Given the description of an element on the screen output the (x, y) to click on. 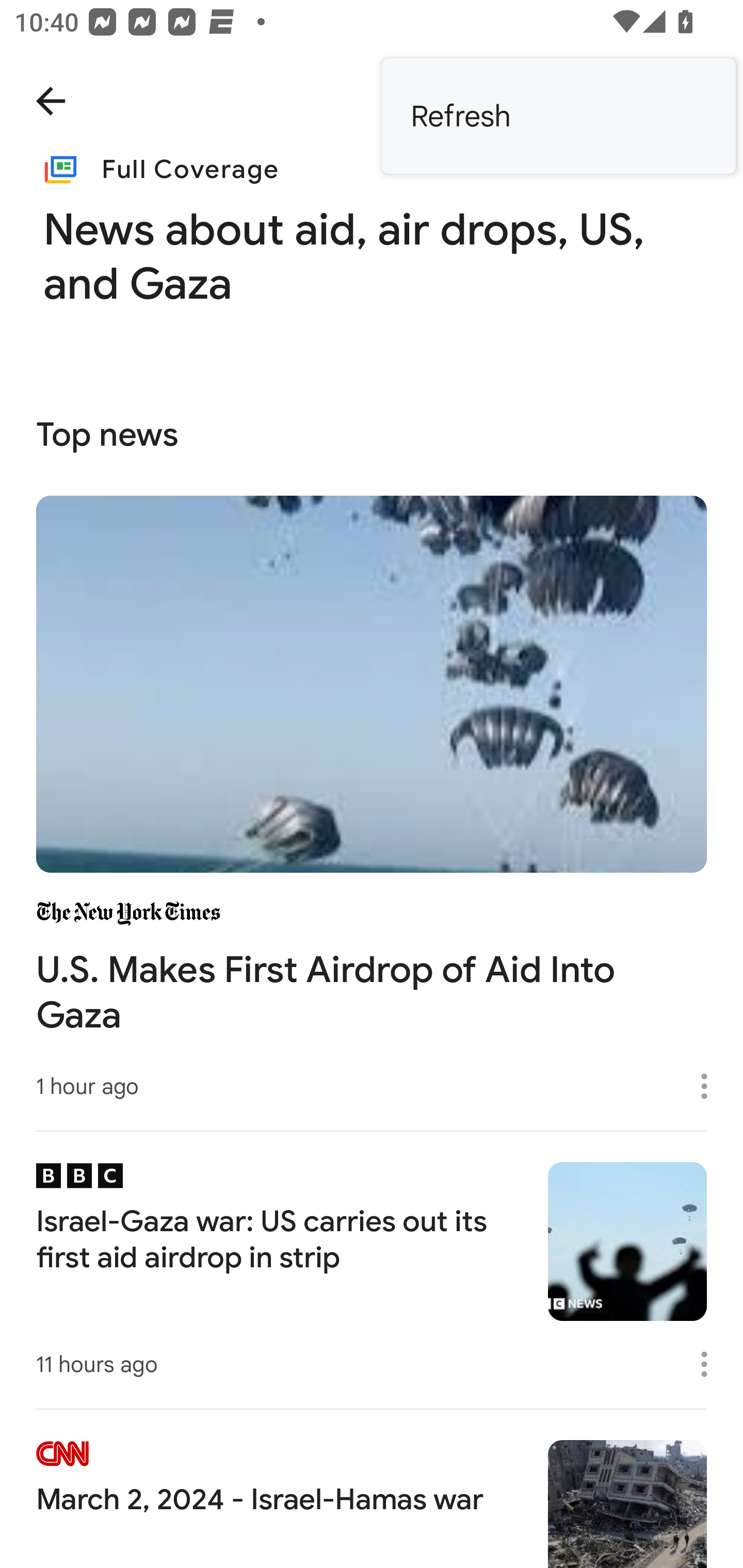
Refresh (558, 115)
